Given the description of an element on the screen output the (x, y) to click on. 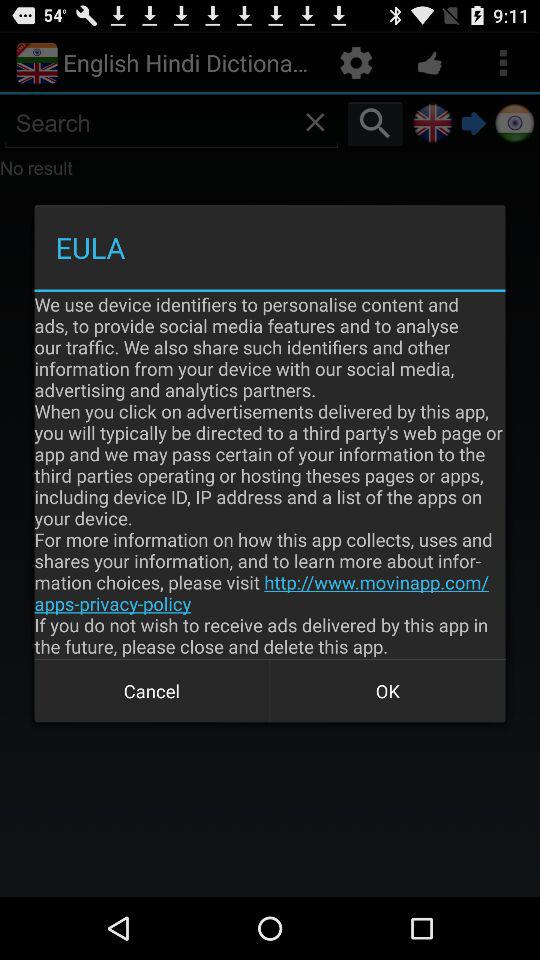
press icon below we use device item (151, 690)
